Given the description of an element on the screen output the (x, y) to click on. 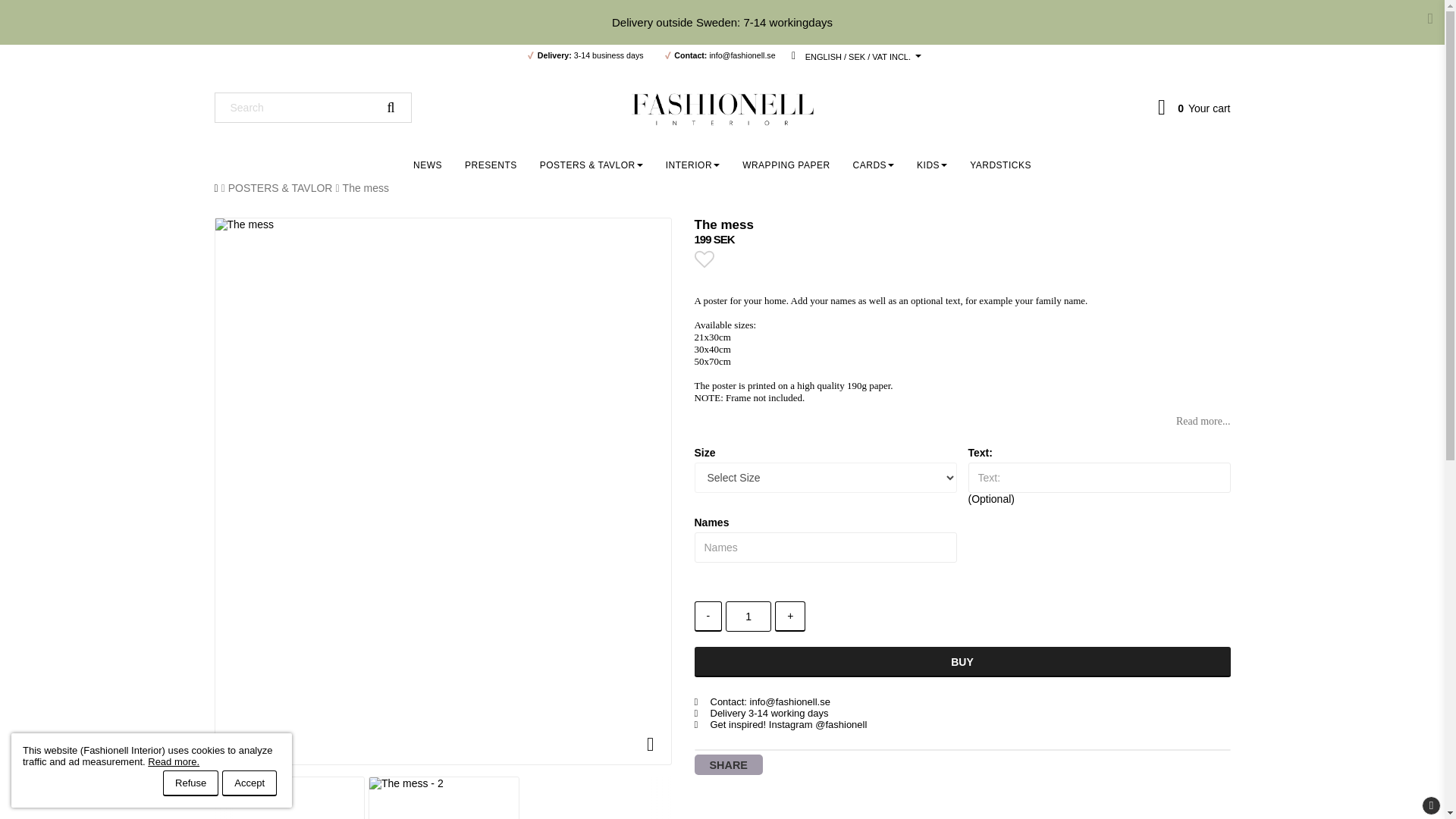
1 (748, 616)
INTERIOR (691, 164)
Accept (249, 783)
NEWS (426, 164)
WRAPPING PAPER (785, 164)
CARDS (873, 164)
PRESENTS (490, 164)
Refuse (190, 783)
KIDS (931, 164)
